Given the description of an element on the screen output the (x, y) to click on. 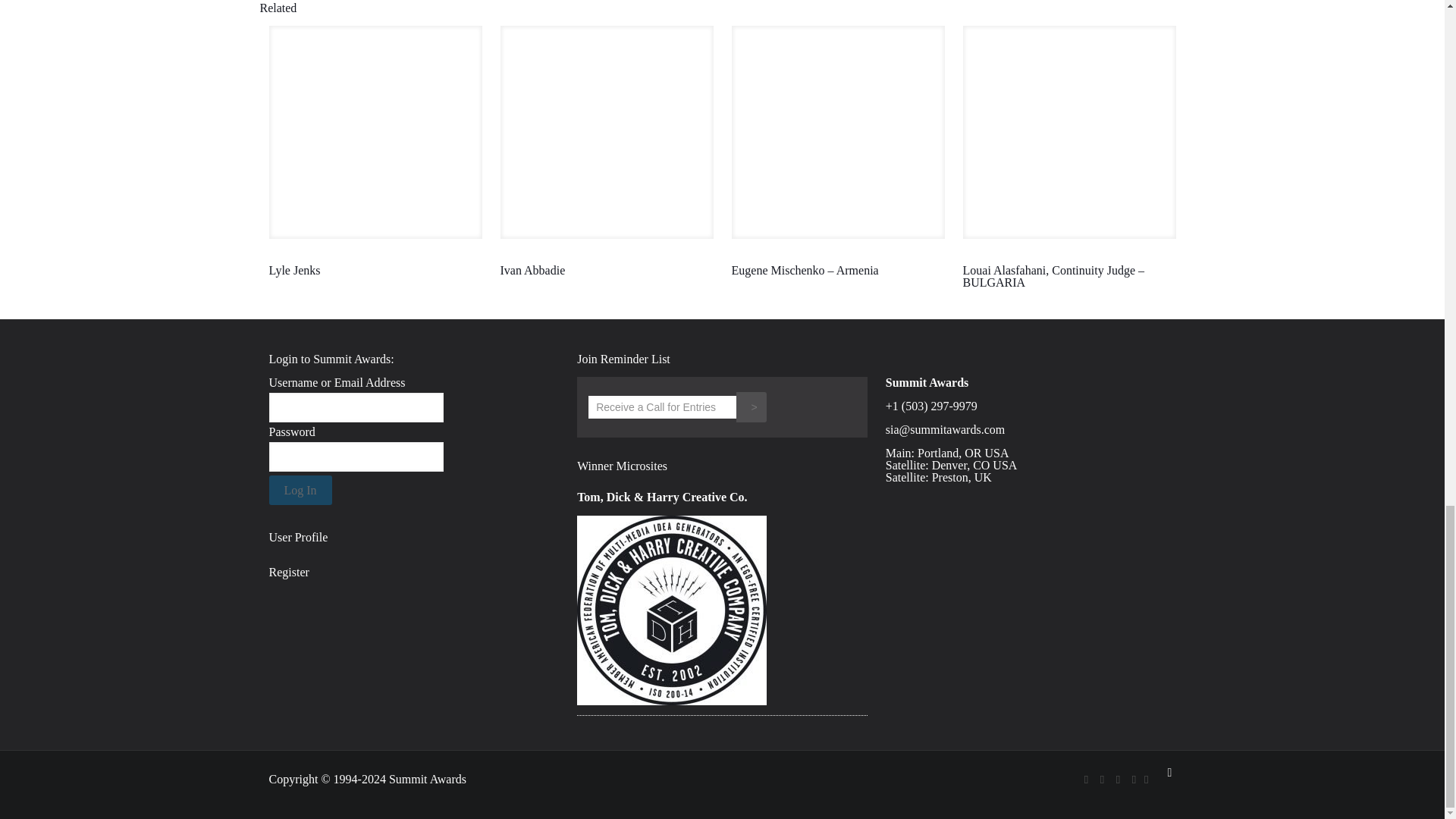
YouTube (1118, 779)
LinkedIn (1134, 779)
Log In (299, 490)
Facebook (1086, 779)
